Given the description of an element on the screen output the (x, y) to click on. 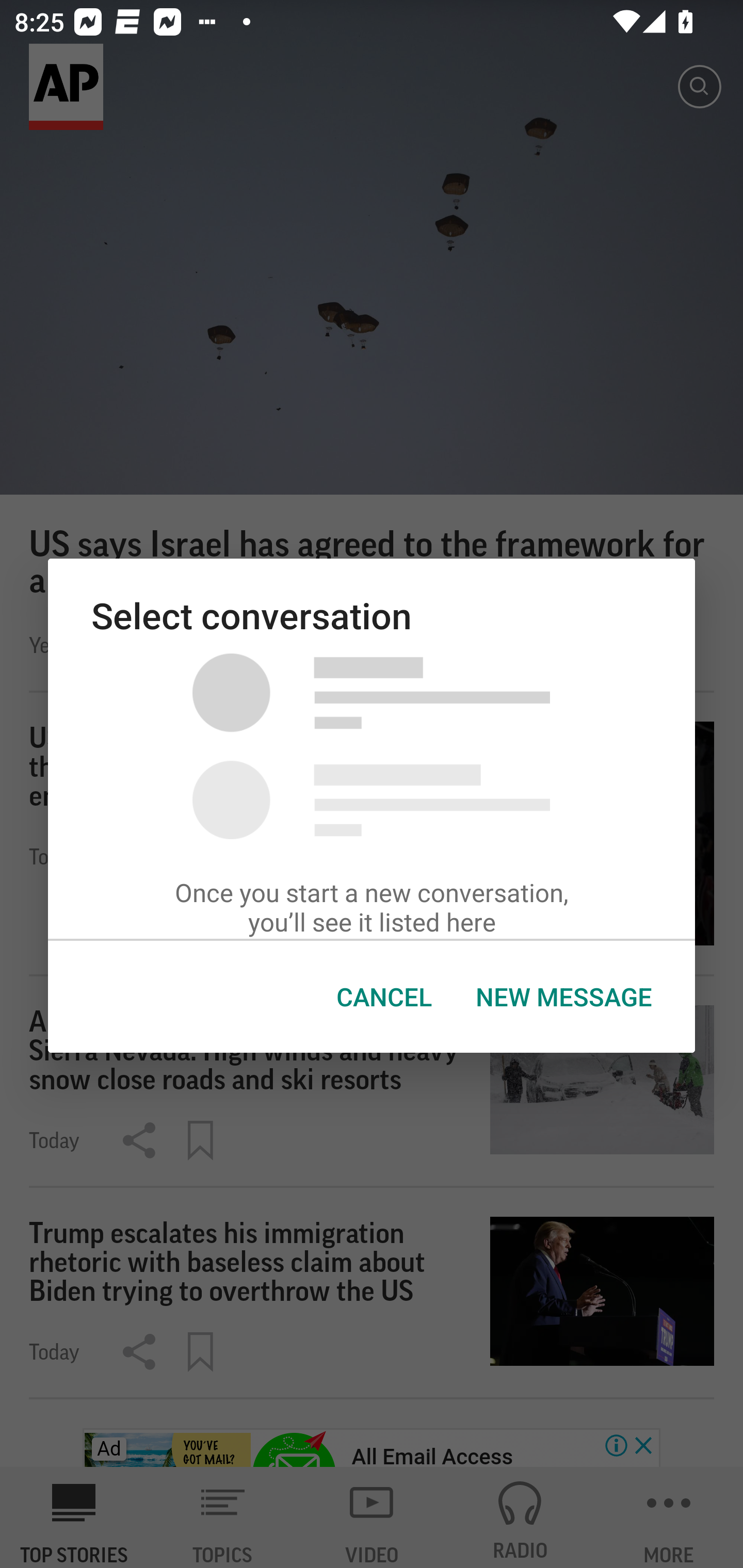
CANCEL (384, 996)
NEW MESSAGE (563, 996)
